Given the description of an element on the screen output the (x, y) to click on. 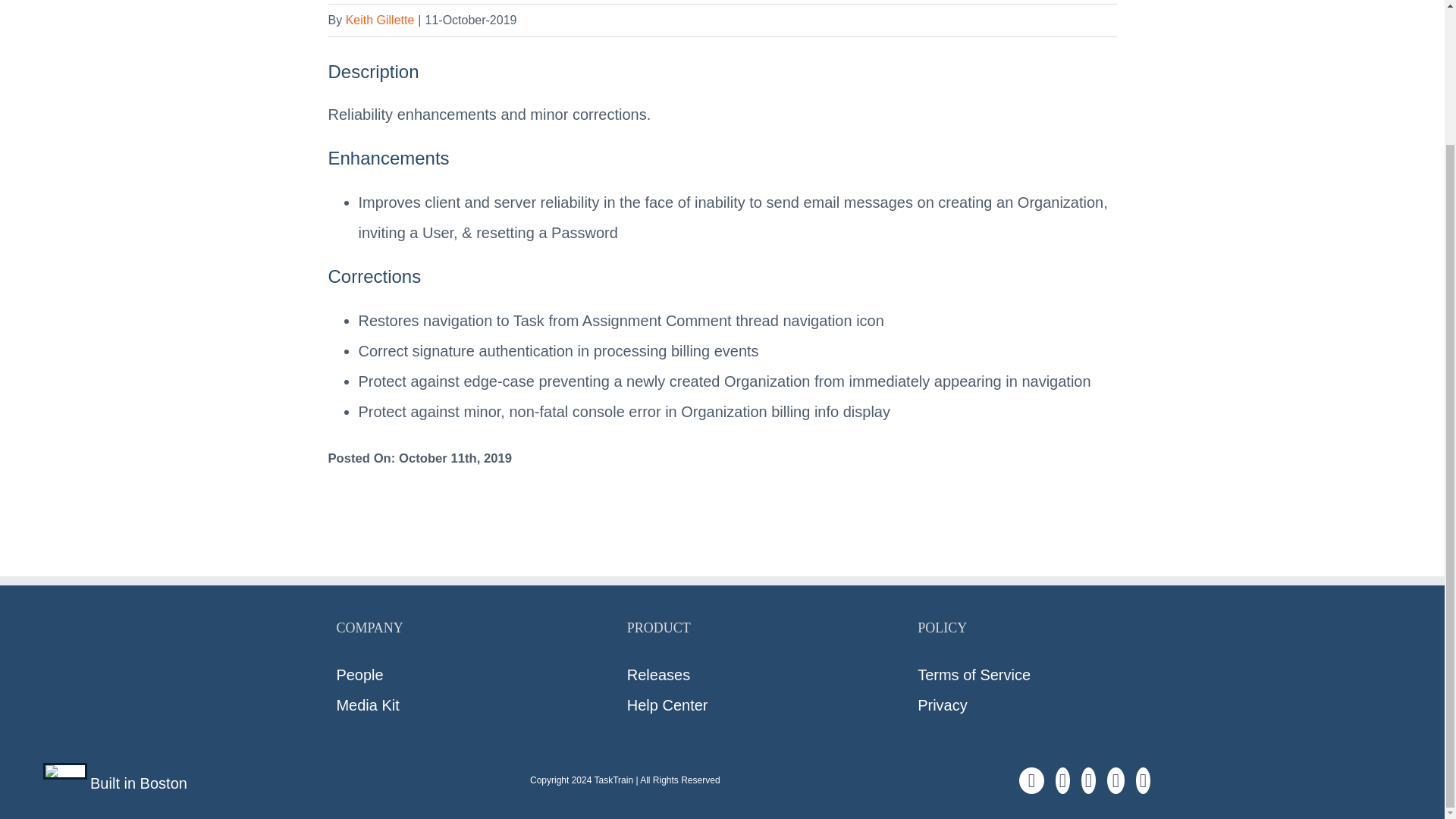
Keith Gillette (380, 19)
Privacy (1031, 705)
Posts by Keith Gillette (380, 19)
Help Center (733, 705)
Releases (733, 675)
Terms of Service (1031, 675)
People (450, 675)
Media Kit (450, 705)
